Given the description of an element on the screen output the (x, y) to click on. 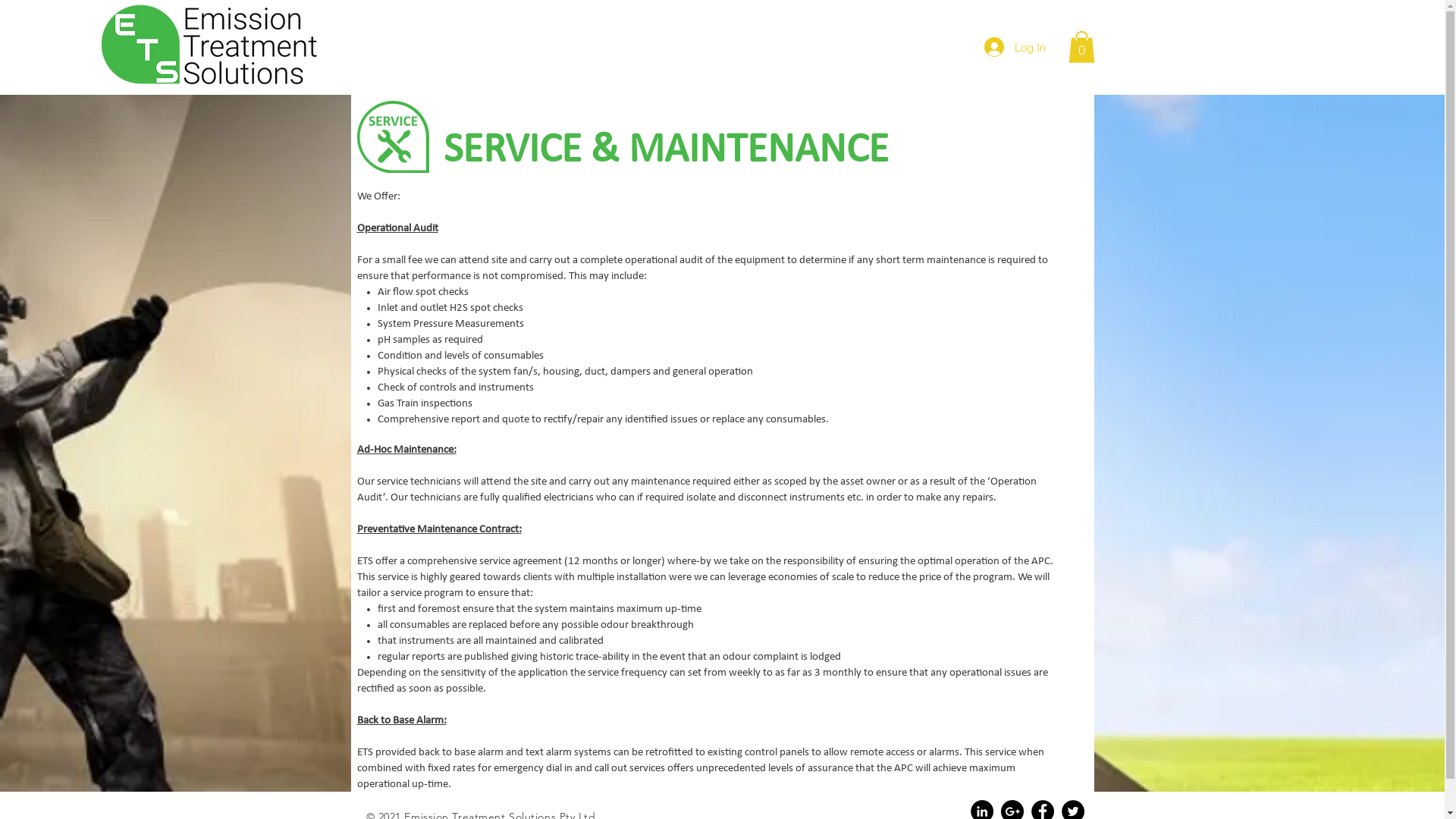
0 Element type: text (1080, 46)
EMISSION TREATMENT SOLUTIONS LOGO 170504.png Element type: hover (208, 47)
Log In Element type: text (1014, 46)
